Given the description of an element on the screen output the (x, y) to click on. 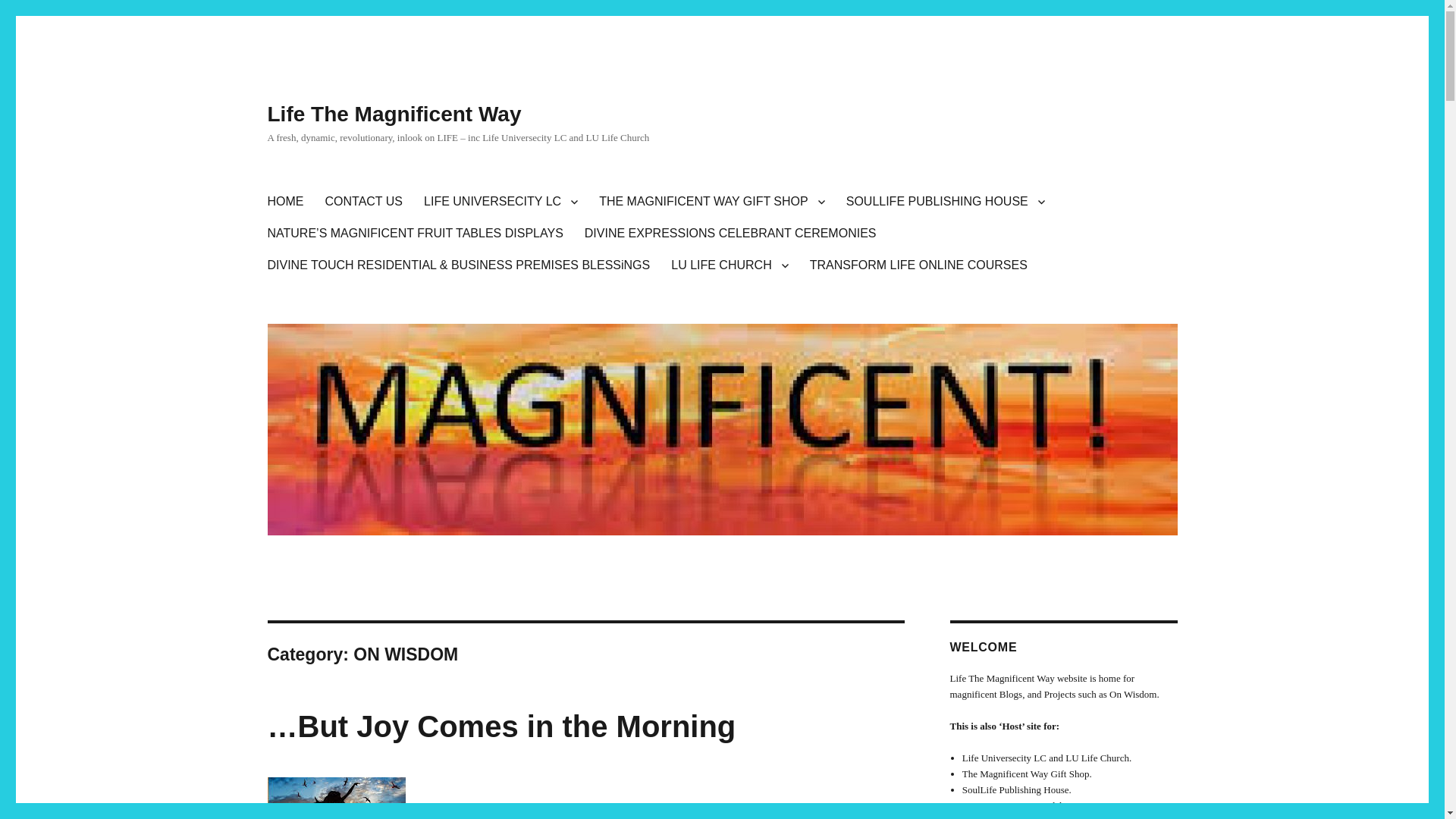
DIVINE EXPRESSIONS CELEBRANT CEREMONIES (729, 233)
TRANSFORM LIFE ONLINE COURSES (918, 265)
SOULLIFE PUBLISHING HOUSE (945, 201)
LU LIFE CHURCH (729, 265)
CONTACT US (363, 201)
THE MAGNIFICENT WAY GIFT SHOP (711, 201)
HOME (285, 201)
LIFE UNIVERSECITY LC (500, 201)
Life The Magnificent Way (393, 114)
